Given the description of an element on the screen output the (x, y) to click on. 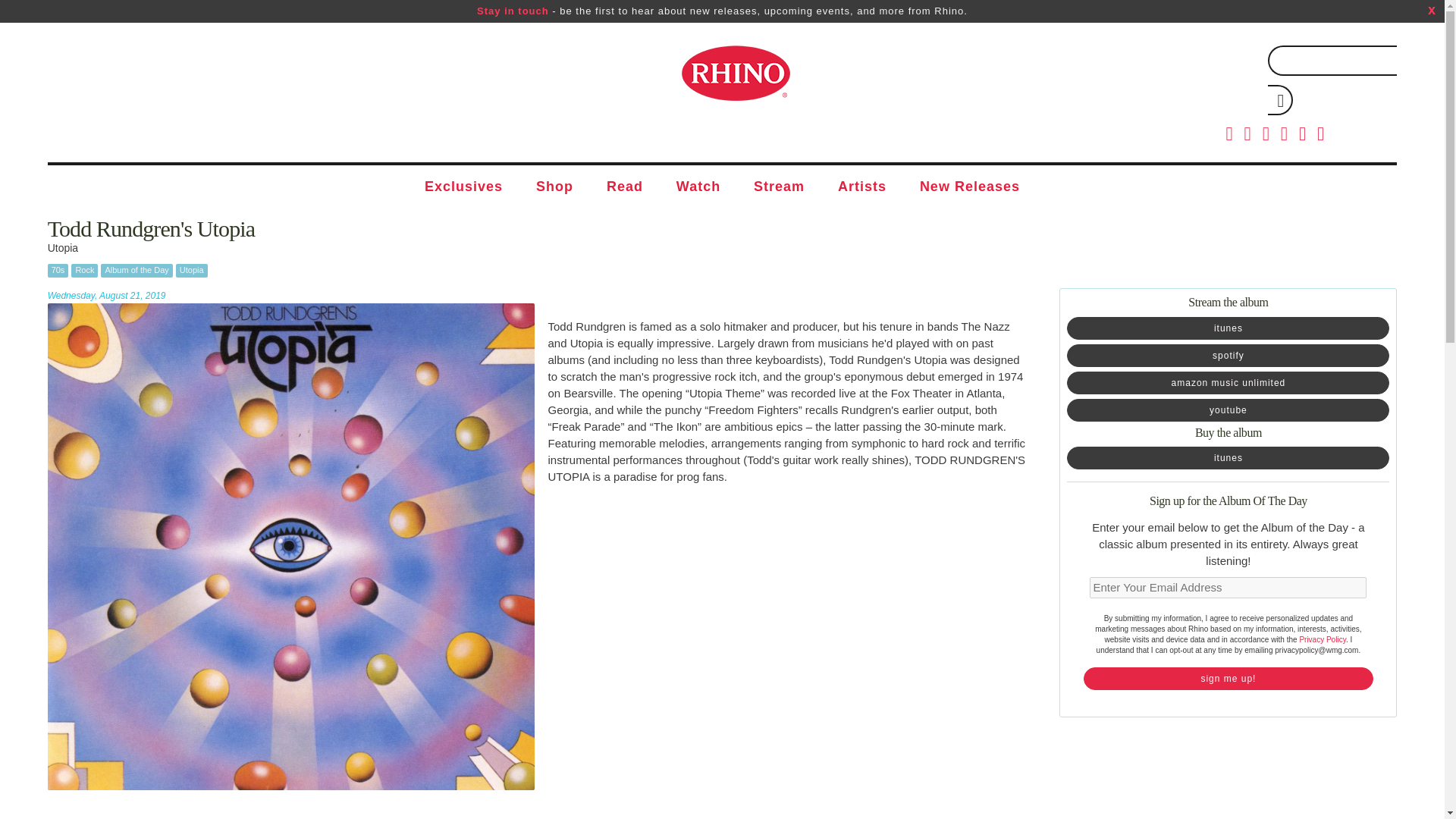
Watch (698, 187)
Rhino.com Home (735, 72)
New Releases (969, 187)
Shop (554, 187)
Exclusives (463, 187)
Artists (861, 187)
Sign Me Up! (1228, 678)
Read (624, 187)
Rhino.com Home (735, 72)
Stream (778, 187)
